Given the description of an element on the screen output the (x, y) to click on. 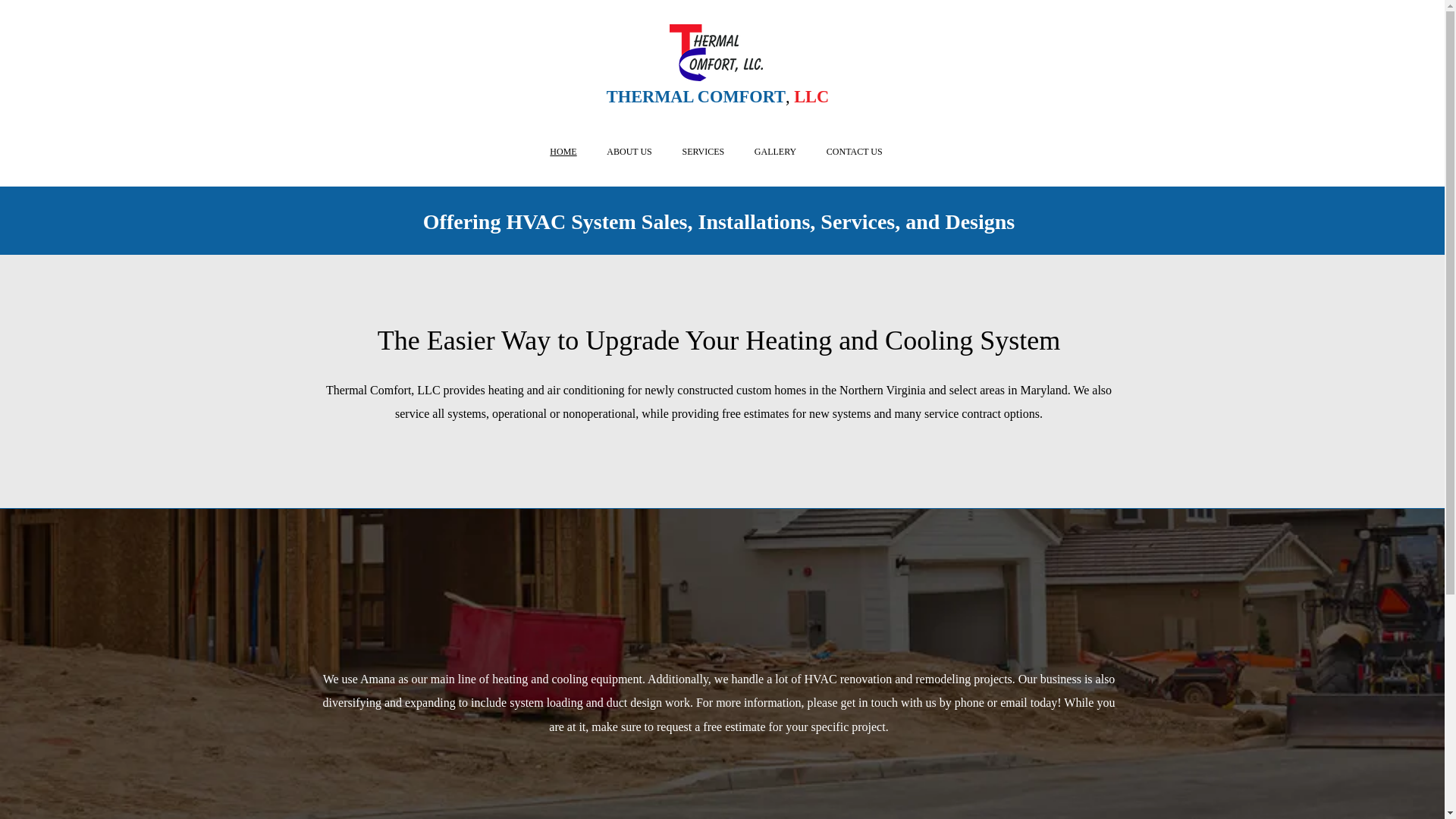
ABOUT US (628, 151)
GALLERY (774, 151)
HOME (563, 151)
CONTACT US (853, 151)
SERVICES (702, 151)
